Given the description of an element on the screen output the (x, y) to click on. 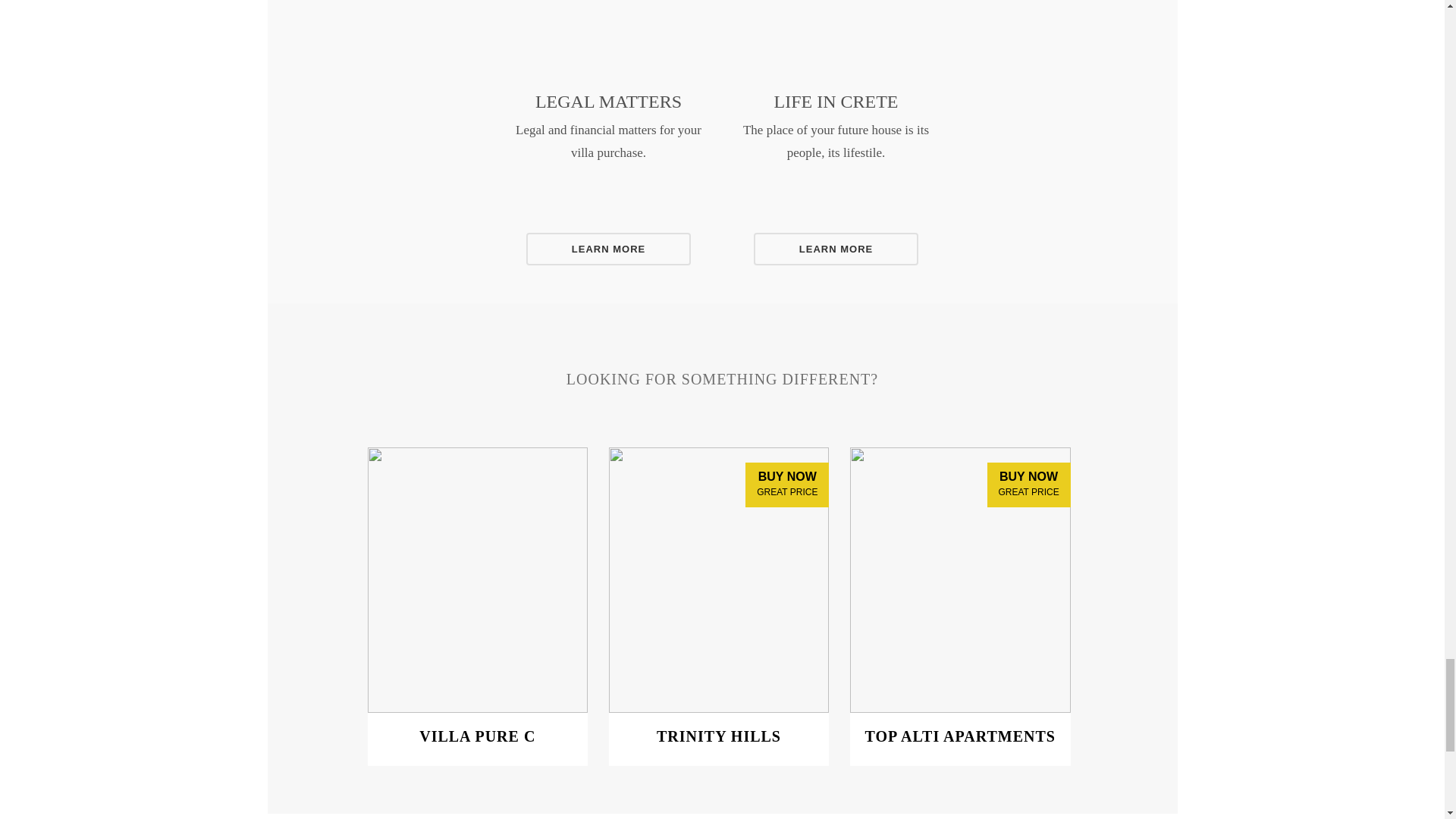
LEARN MORE (835, 248)
LEARN MORE (608, 248)
TRINITY HILLS (718, 736)
VILLA PURE C (477, 736)
TOP ALTI APARTMENTS (960, 744)
